Given the description of an element on the screen output the (x, y) to click on. 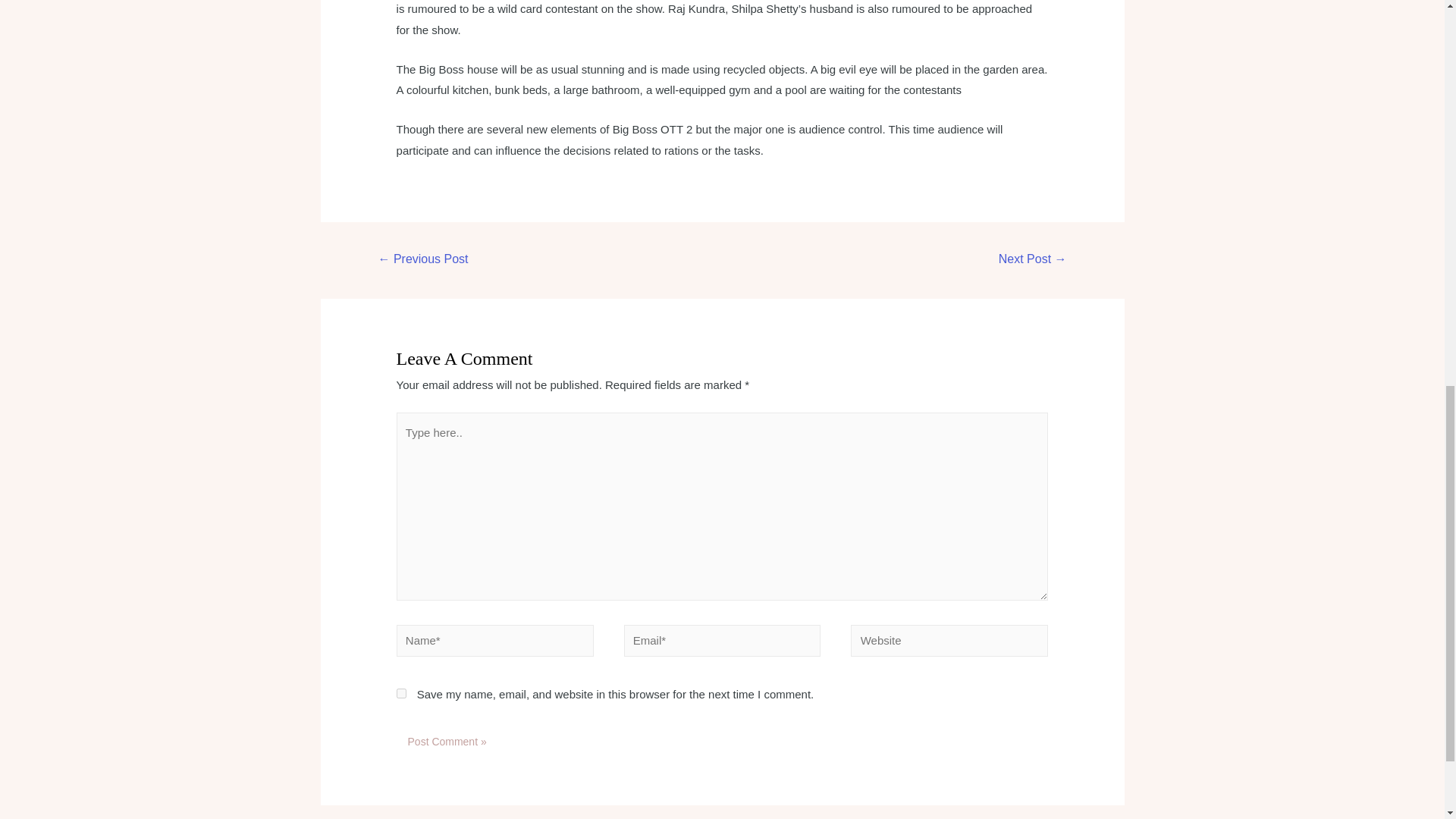
yes (401, 693)
